Given the description of an element on the screen output the (x, y) to click on. 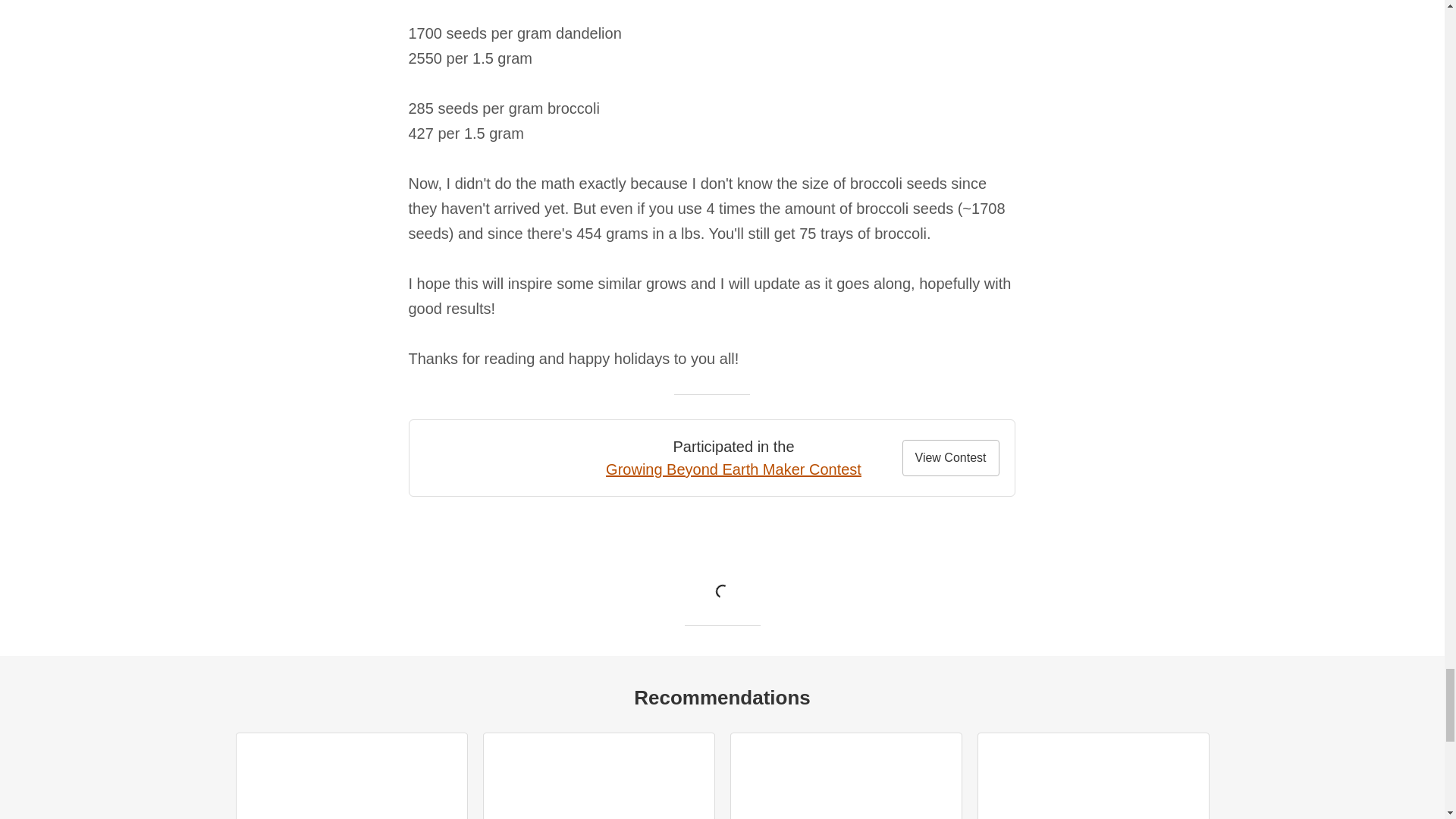
View Contest (950, 457)
Growing Beyond Earth Maker Contest (733, 469)
